Given the description of an element on the screen output the (x, y) to click on. 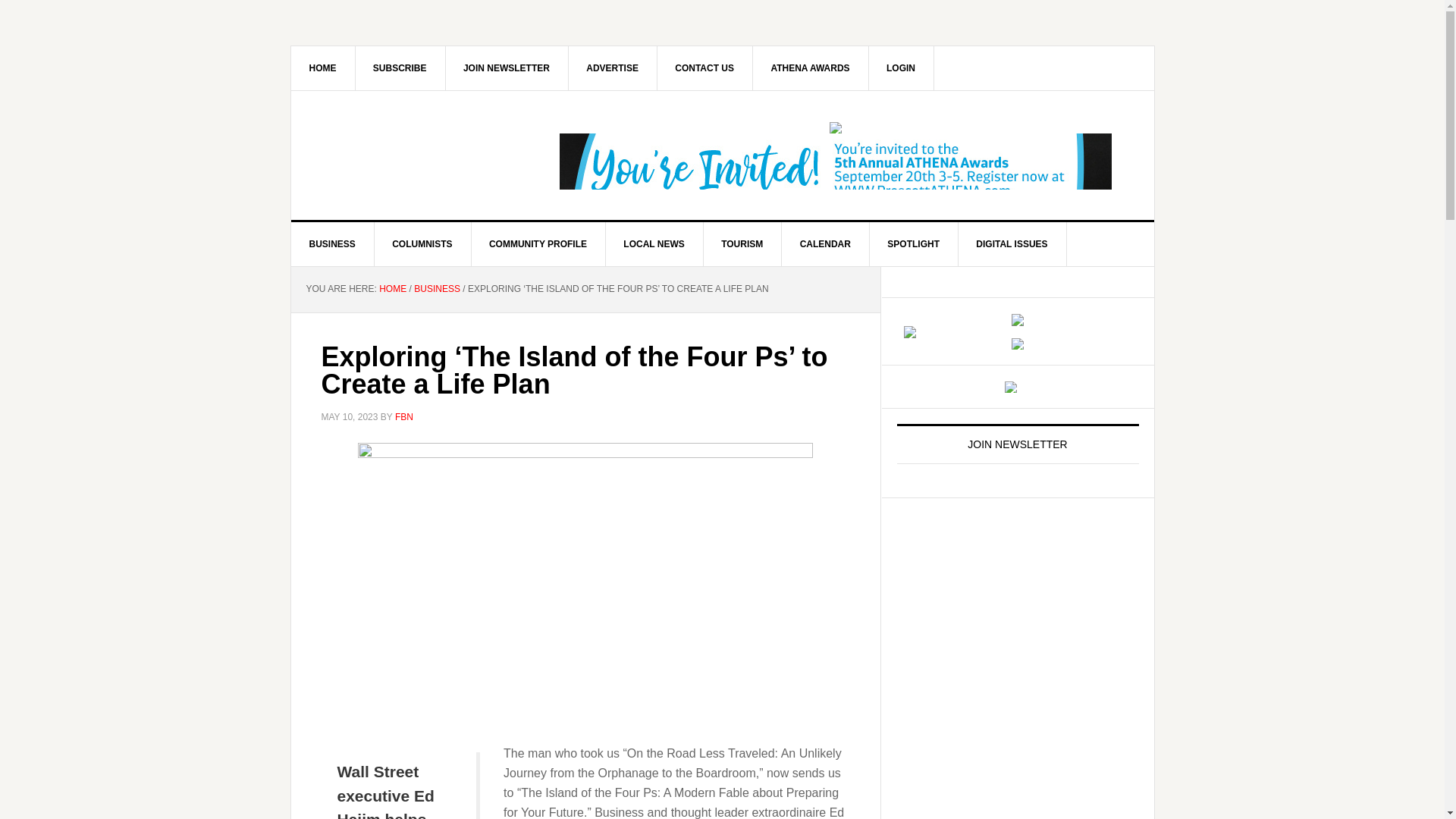
ADVERTISE (612, 67)
SUBSCRIBE (400, 67)
LOGIN (900, 67)
BUSINESS (332, 243)
DIGITAL ISSUES (1011, 243)
FLAGSTAFF BUSINESS NEWS (419, 155)
COMMUNITY PROFILE (537, 243)
FBN (403, 416)
TOURISM (742, 243)
JOIN NEWSLETTER (507, 67)
COLUMNISTS (422, 243)
CONTACT US (704, 67)
LOCAL NEWS (654, 243)
BUSINESS (436, 288)
